Given the description of an element on the screen output the (x, y) to click on. 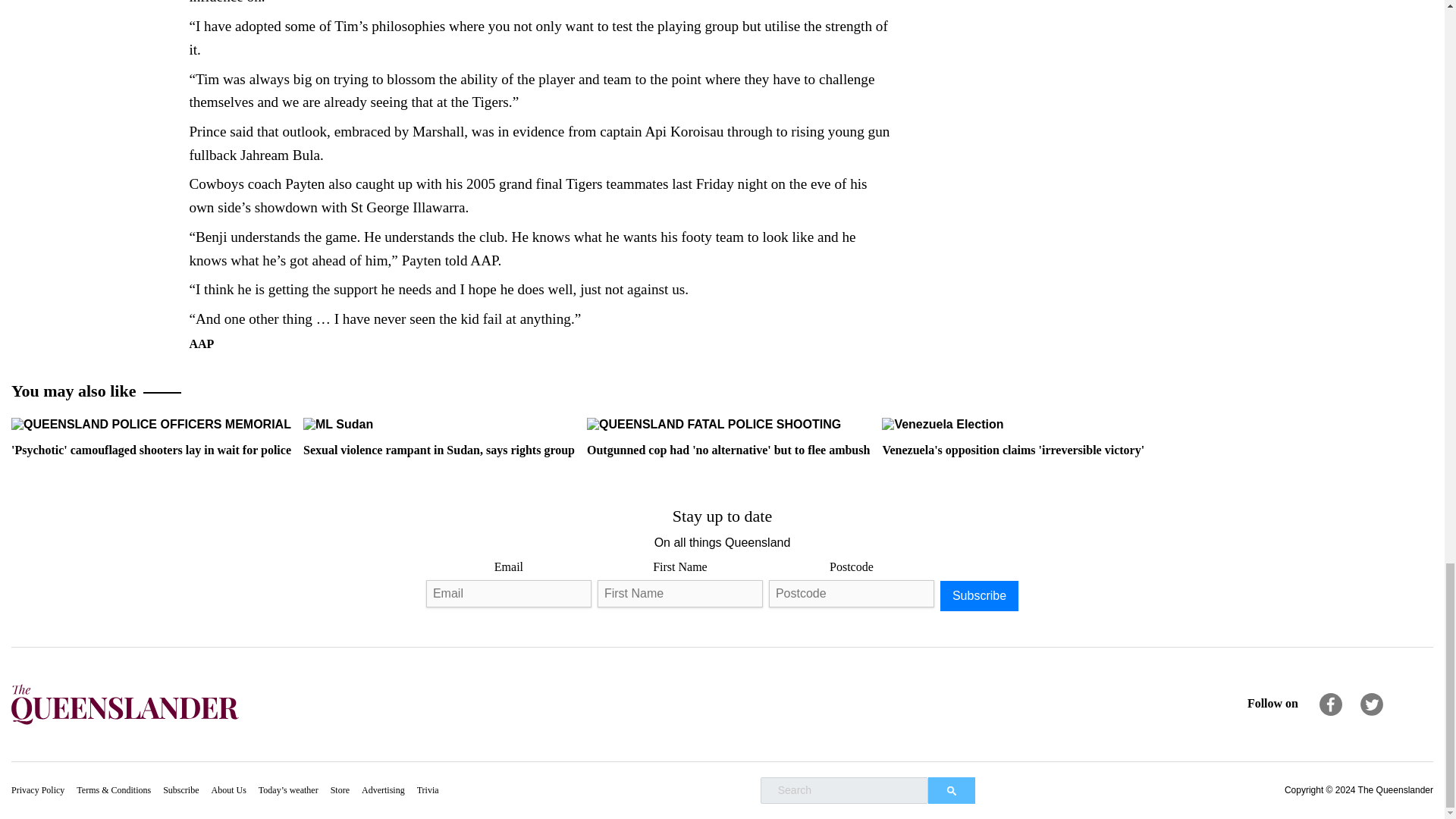
Venezuela's opposition claims 'irreversible victory' (942, 424)
'Psychotic' camouflaged shooters lay in wait for police (151, 436)
Sexual violence rampant in Sudan, says rights group (337, 424)
Outgunned cop had 'no alternative' but to flee ambush (727, 436)
Sexual violence rampant in Sudan, says rights group (438, 436)
'Psychotic' camouflaged shooters lay in wait for police (151, 424)
Outgunned cop had 'no alternative' but to flee ambush (713, 424)
